Given the description of an element on the screen output the (x, y) to click on. 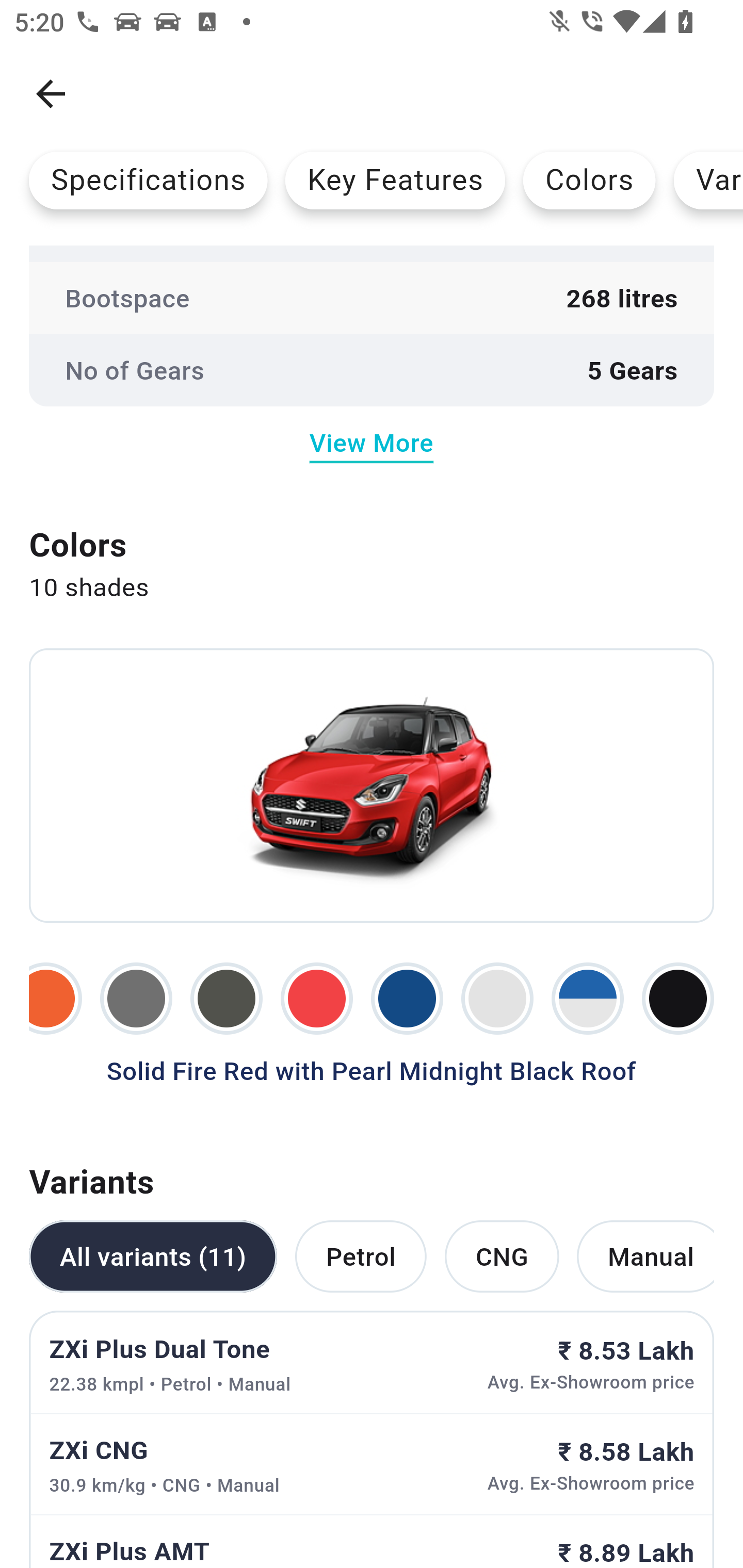
Back (50, 93)
Specifications (147, 180)
Key Features (395, 180)
Colors (589, 180)
All variants (11) (152, 1255)
Petrol (360, 1255)
CNG (501, 1255)
Manual (645, 1255)
ZXi Plus AMT
Avg. Ex-Showroom price ₹ 8.89 Lakh (371, 1541)
